Given the description of an element on the screen output the (x, y) to click on. 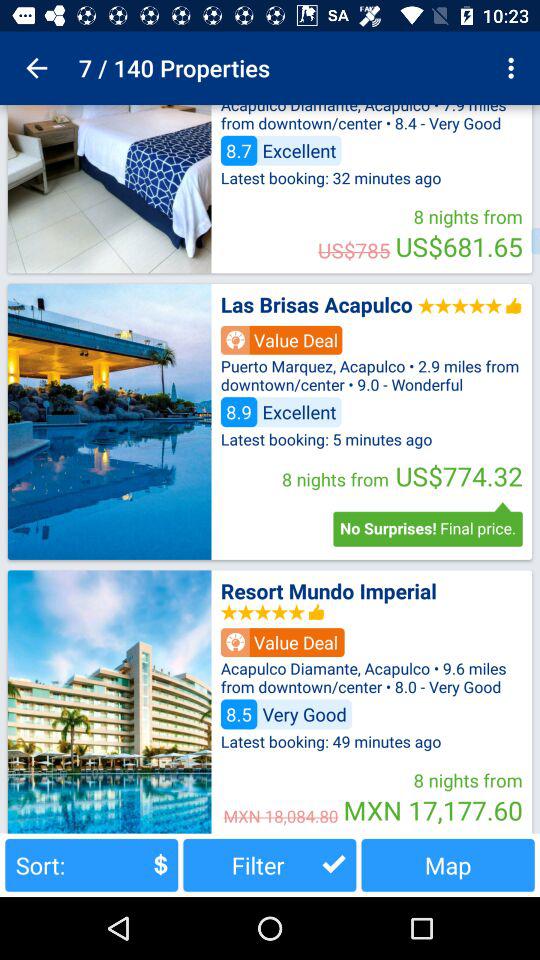
look at larger image (109, 701)
